Given the description of an element on the screen output the (x, y) to click on. 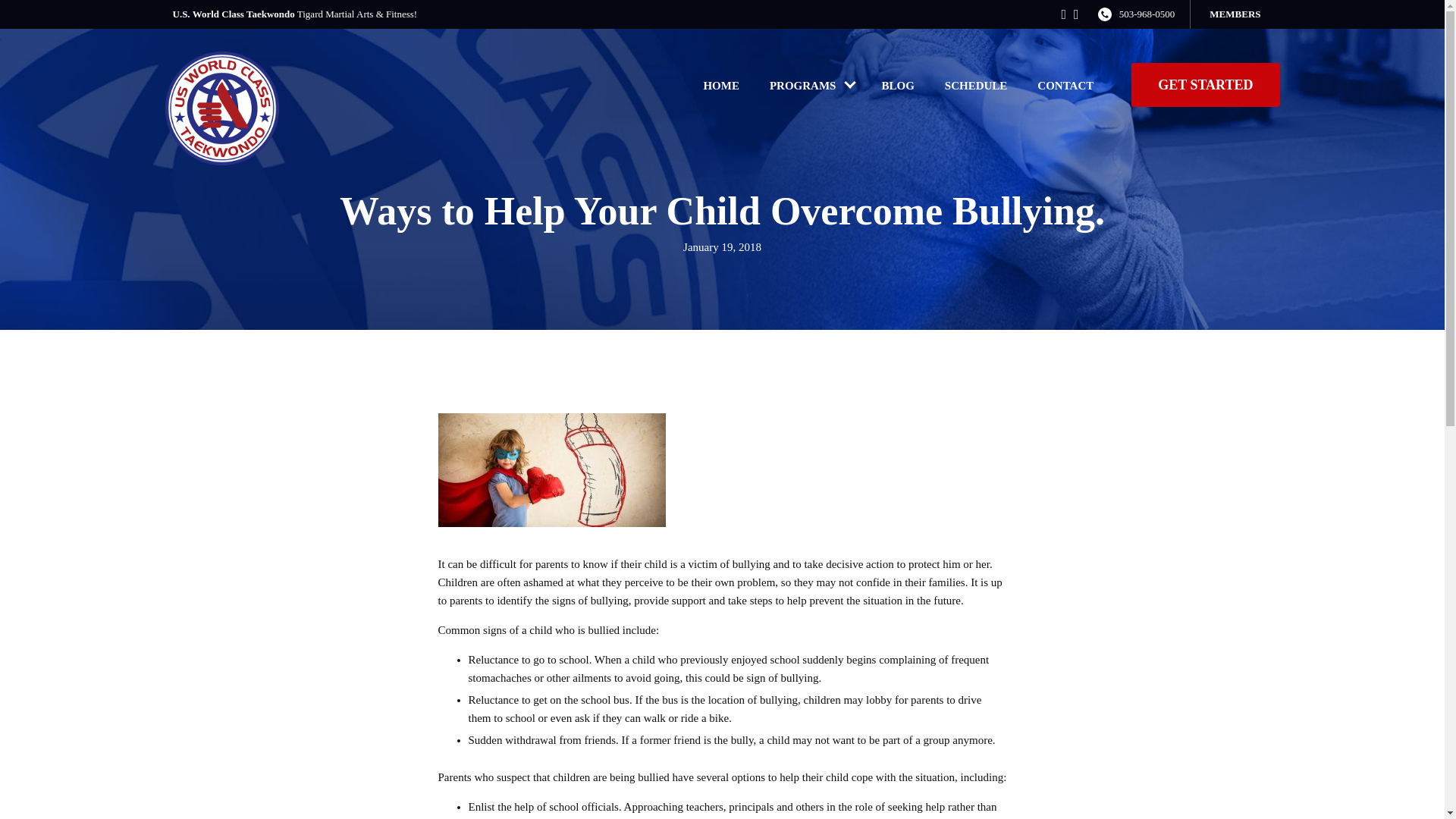
GET STARTED (1205, 85)
HOME (720, 84)
PROGRAMS (802, 84)
CONTACT (1065, 84)
BLOG (897, 84)
MEMBERS (1234, 13)
503-968-0500 (1146, 13)
SCHEDULE (976, 84)
